Given the description of an element on the screen output the (x, y) to click on. 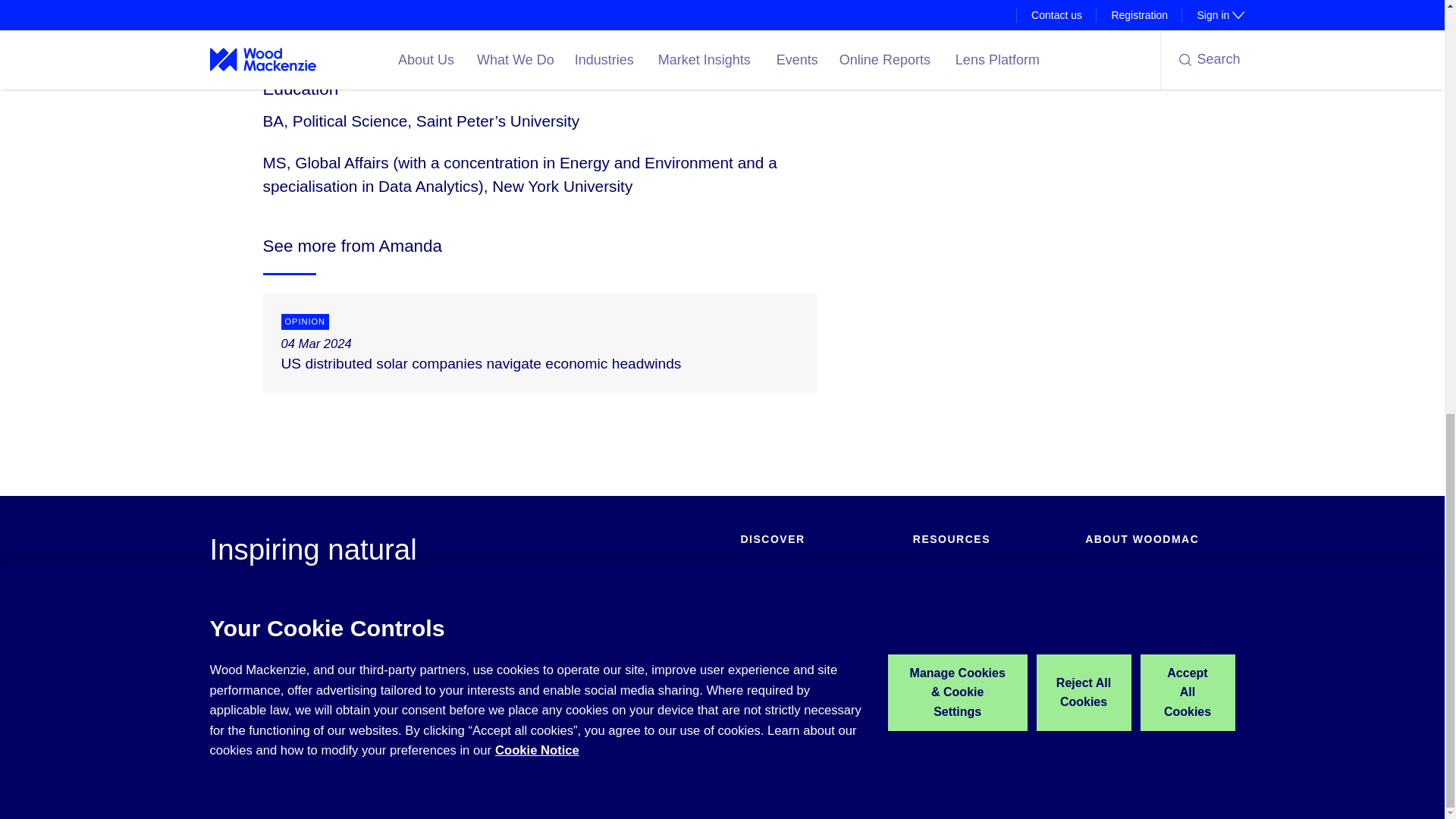
Our locations (1115, 643)
Consulting (764, 620)
Energy Transition (780, 597)
Horizons (933, 597)
Our Experts (940, 620)
Events (756, 643)
Reports (758, 665)
Media centre (1115, 597)
Careers (1103, 620)
About us (1105, 574)
Customer support (954, 643)
